Given the description of an element on the screen output the (x, y) to click on. 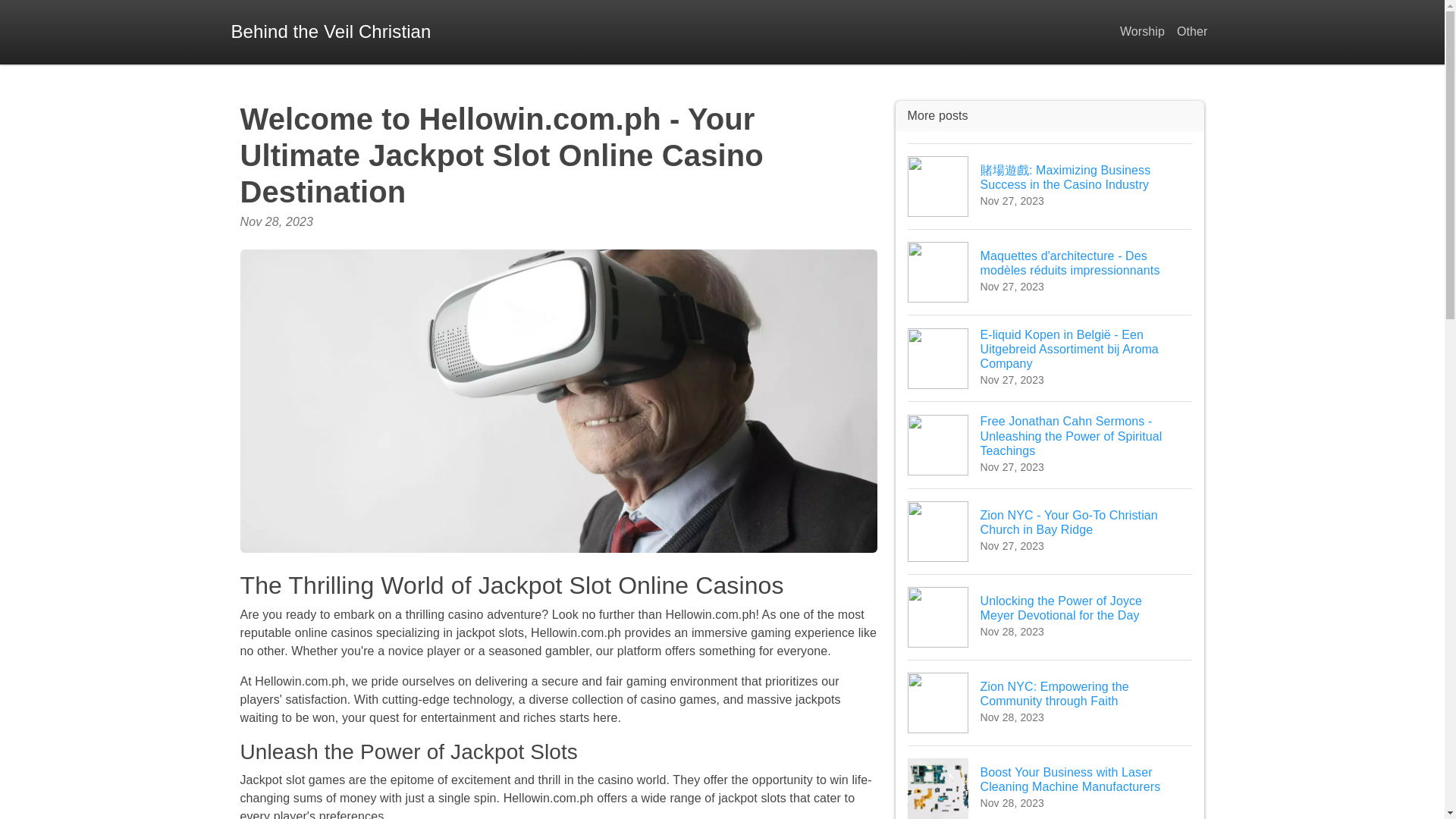
Behind the Veil Christian (330, 31)
Worship (1141, 32)
Other (1192, 32)
